Given the description of an element on the screen output the (x, y) to click on. 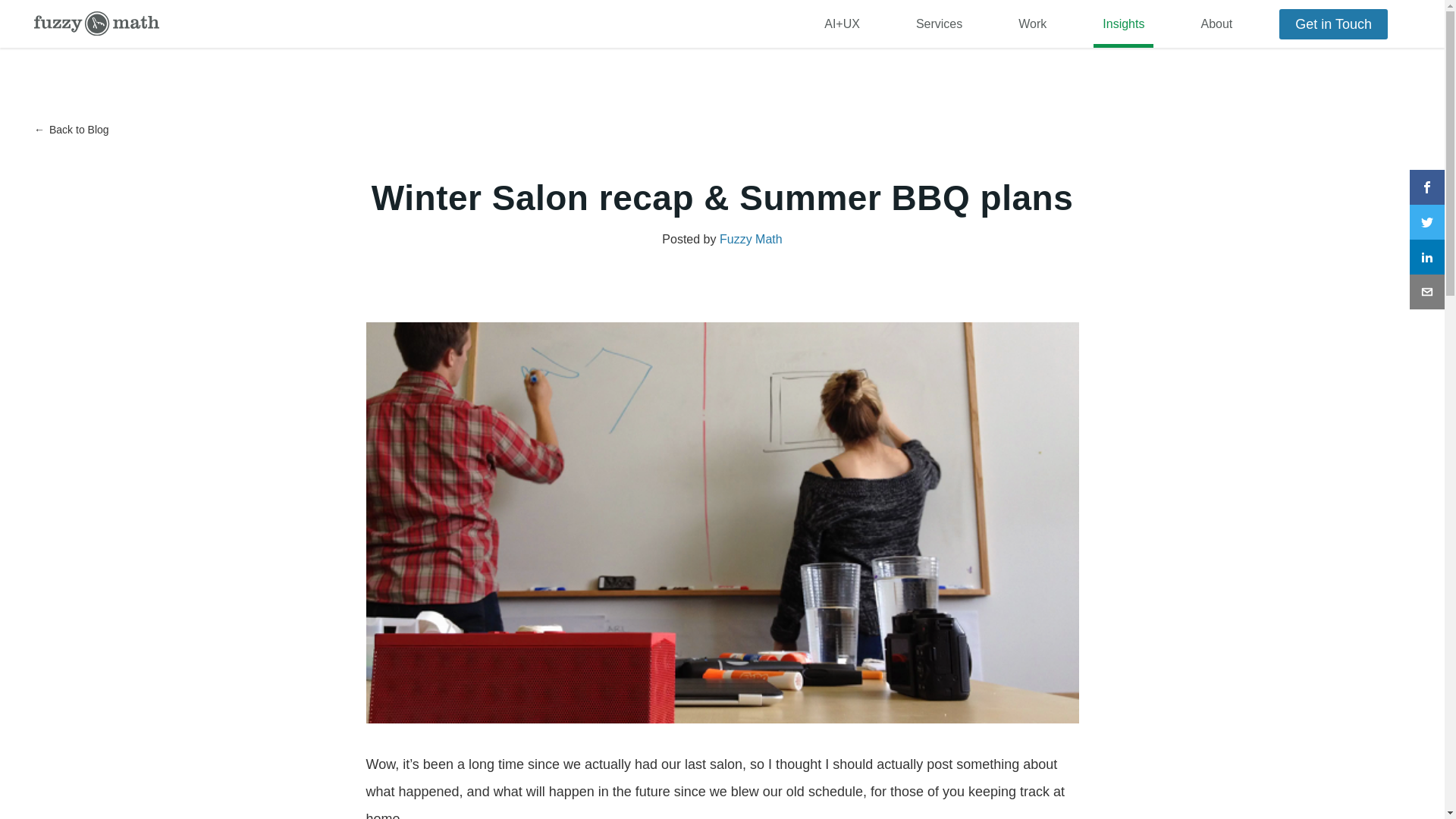
Insights (1123, 23)
Posts by Fuzzy Math (751, 238)
Work (1032, 23)
Get in Touch (1333, 24)
Services (939, 23)
Fuzzy Math (95, 23)
About (1216, 23)
